Given the description of an element on the screen output the (x, y) to click on. 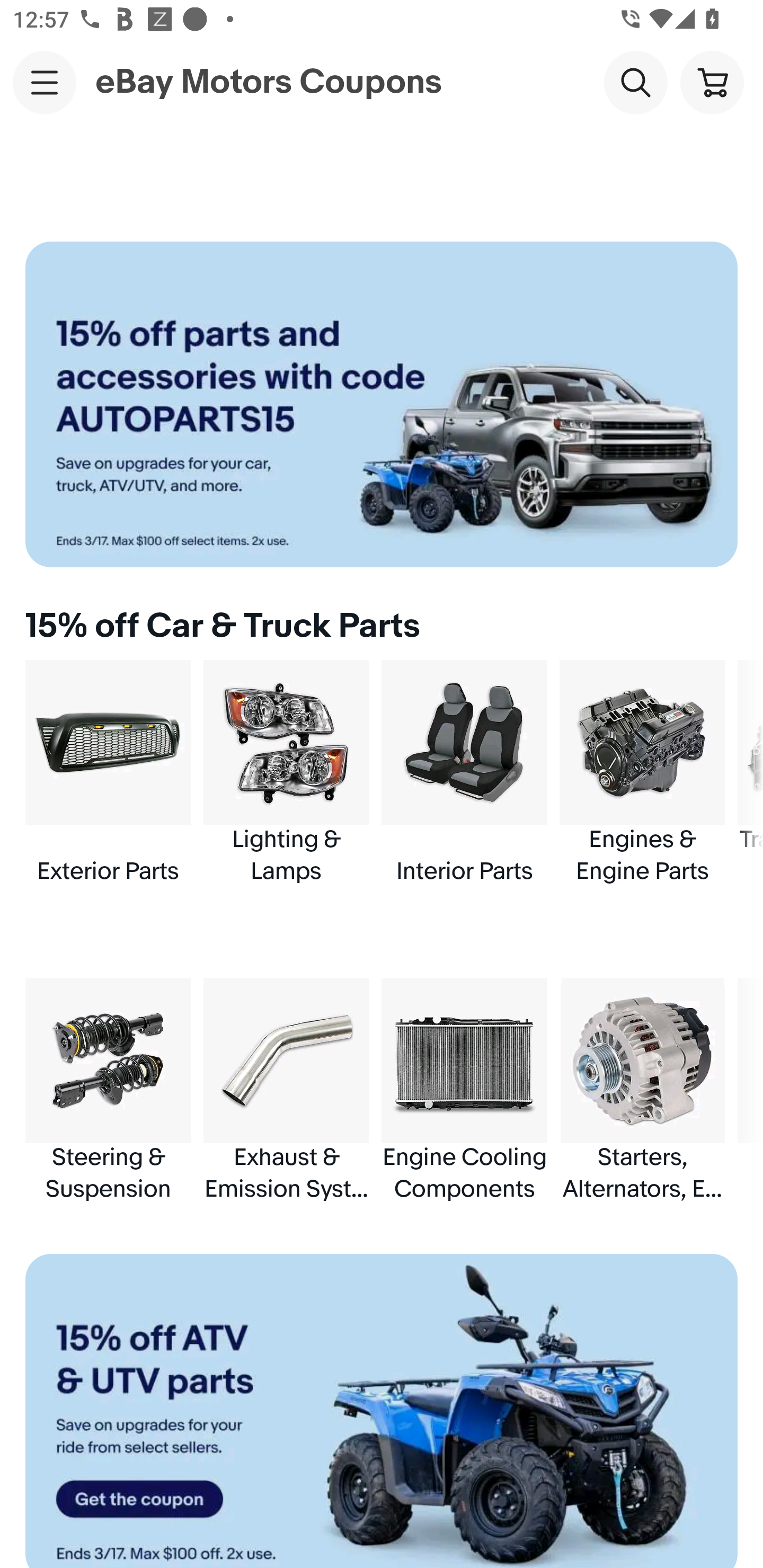
Main navigation, open (44, 82)
Search (635, 81)
Cart button shopping cart (711, 81)
15% off parts & accessories for your ride (381, 404)
Exterior Parts (107, 772)
Lighting & Lamps (285, 772)
Interior Parts (464, 772)
Engines & Engine Parts (641, 772)
Steering & Suspension (107, 1090)
Exhaust & Emission Systems (285, 1090)
Engine Cooling Components (464, 1090)
Starters, Alternators, ECUs & Wiring (641, 1090)
15% off atv and utv parts (381, 1411)
